Given the description of an element on the screen output the (x, y) to click on. 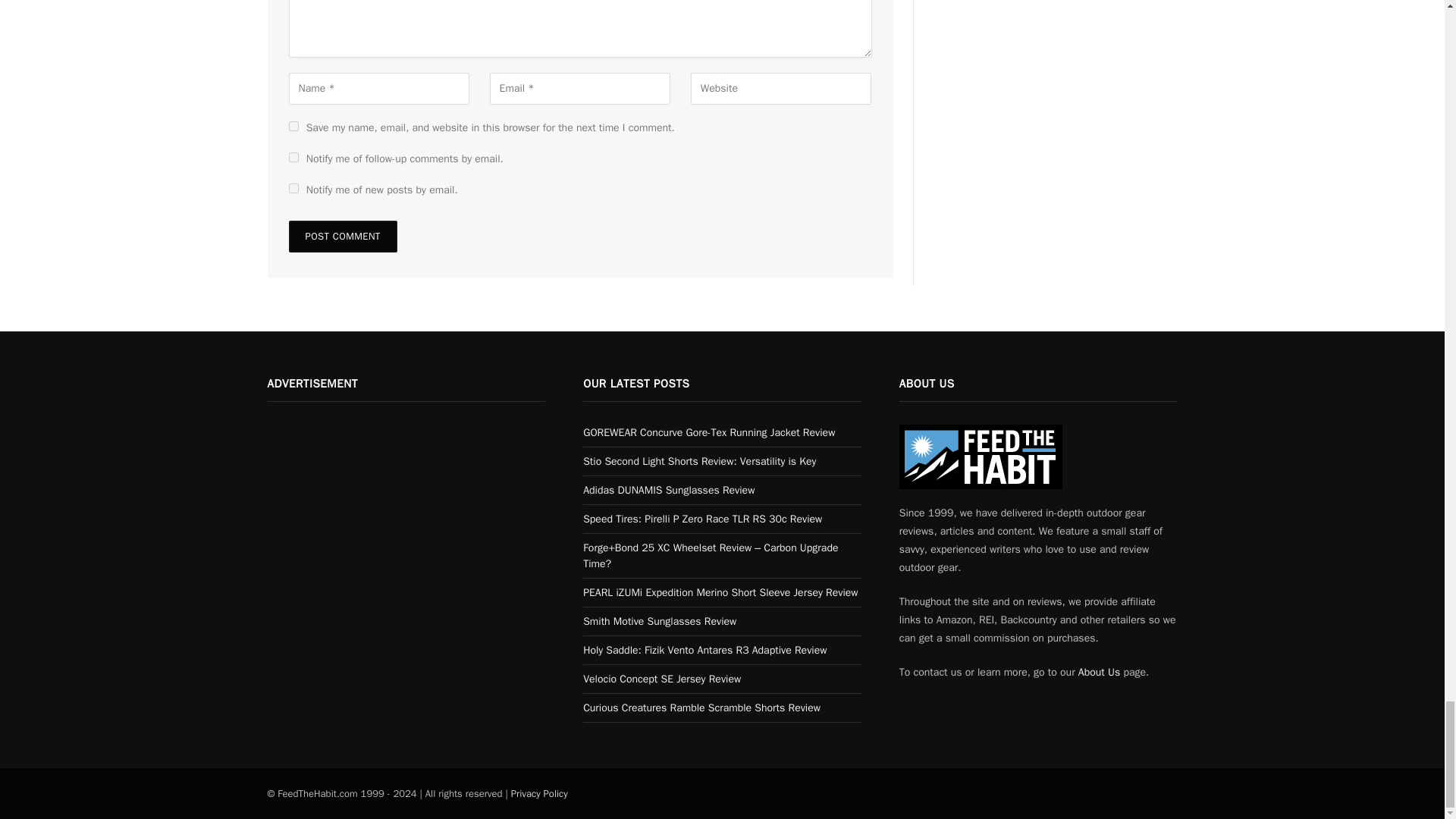
subscribe (293, 188)
subscribe (293, 157)
yes (293, 126)
Post Comment (342, 236)
